Given the description of an element on the screen output the (x, y) to click on. 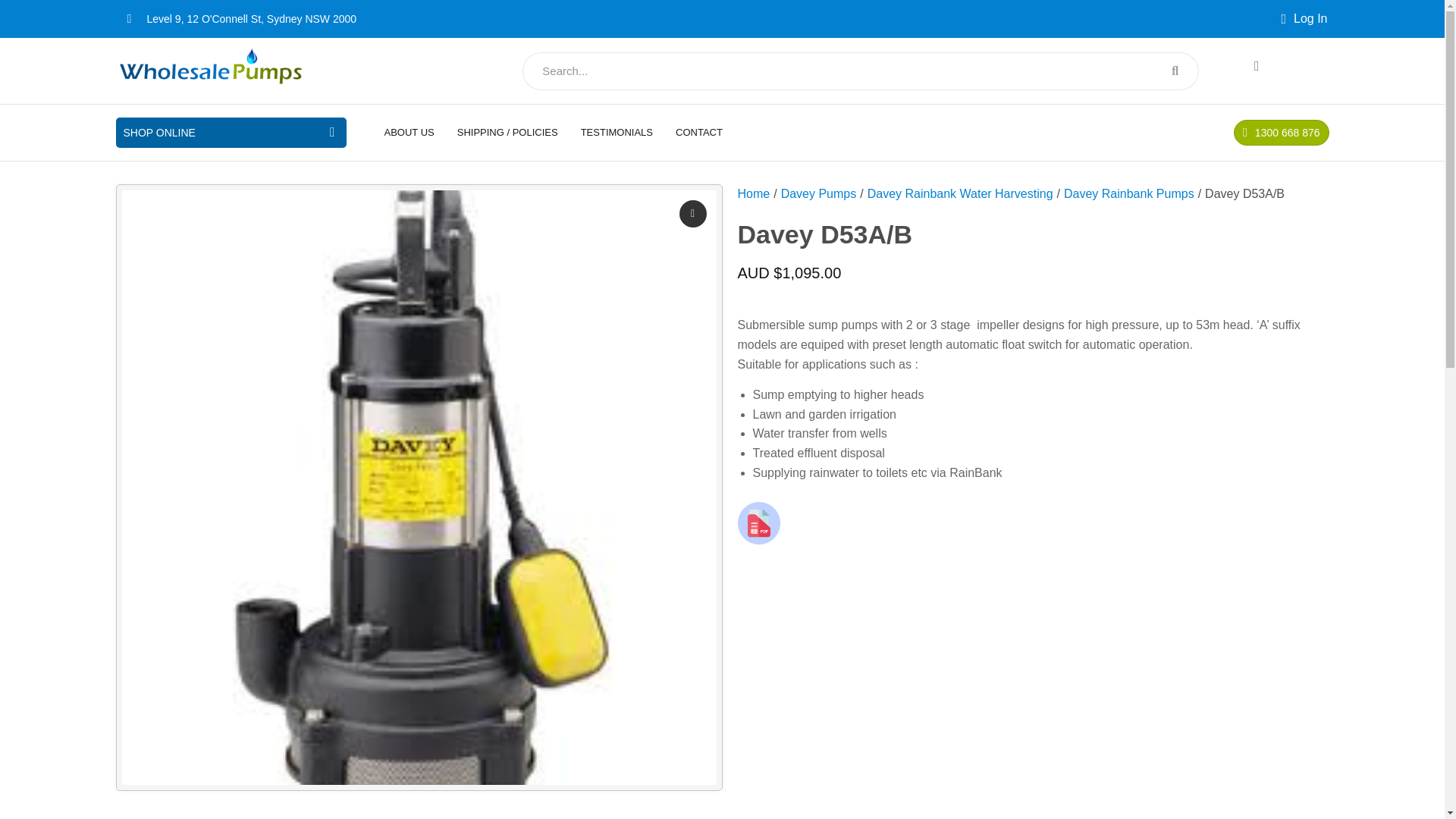
Davey Rainbank Pumps (1128, 193)
Home (753, 193)
Davey Rainbank Water Harvesting (959, 193)
Search (1174, 69)
Log In (1303, 18)
Search (842, 71)
SHOP ONLINE (158, 132)
Davey Pumps (818, 193)
